Given the description of an element on the screen output the (x, y) to click on. 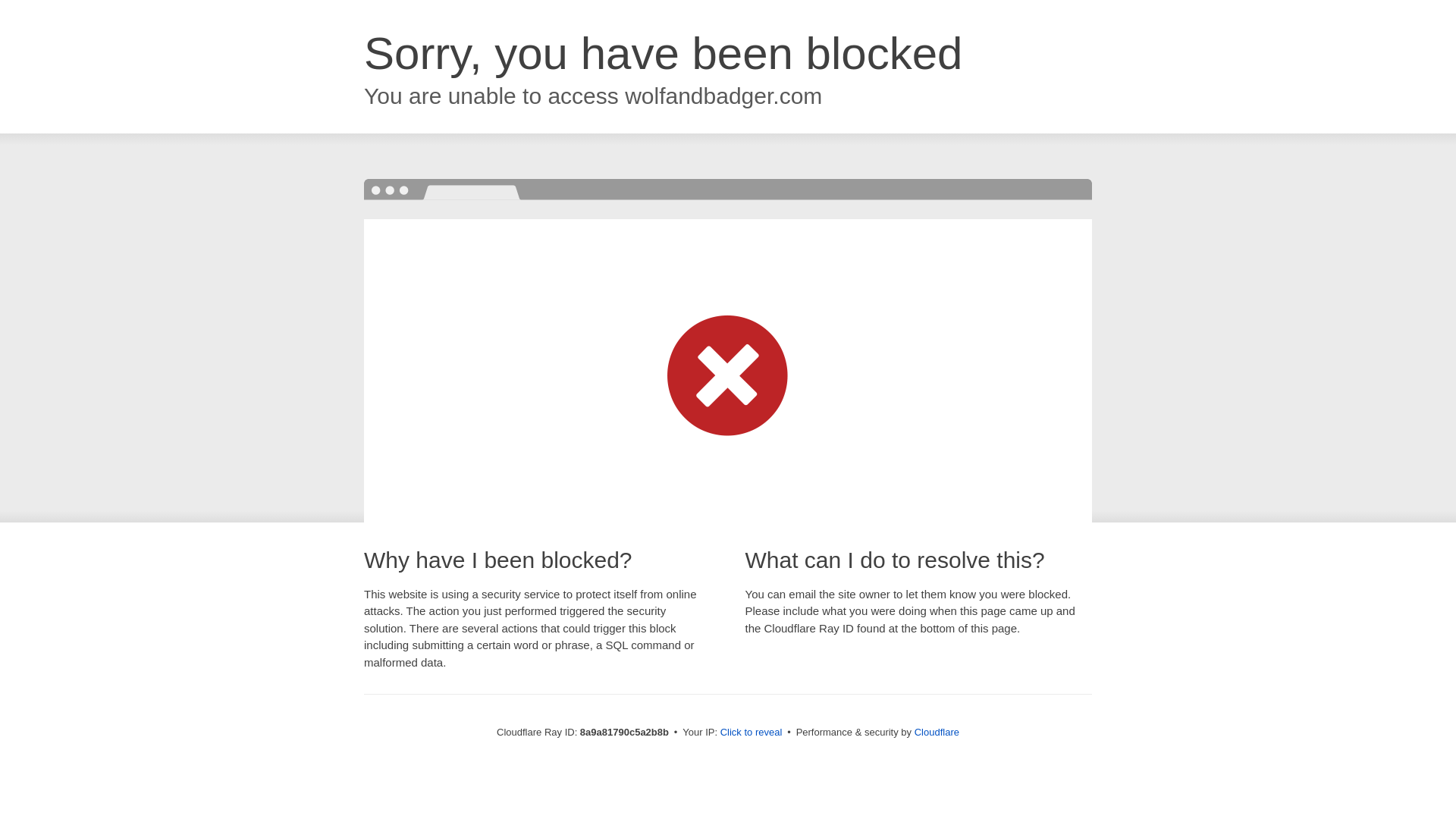
Click to reveal (751, 732)
Cloudflare (936, 731)
